Given the description of an element on the screen output the (x, y) to click on. 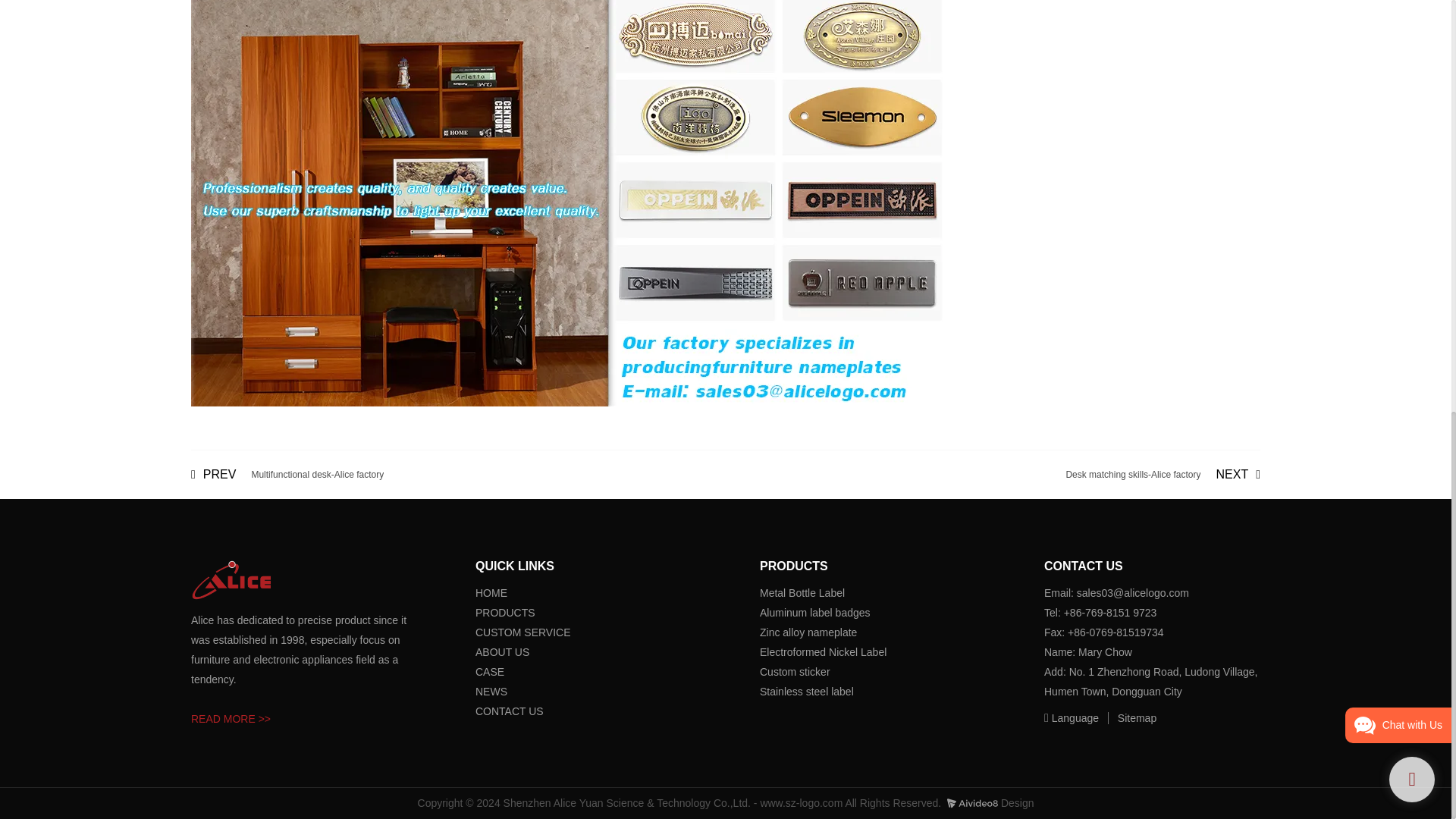
Language (1072, 717)
Desk matching skills-Alice factory (1162, 474)
CUSTOM SERVICE (523, 632)
Zinc alloy nameplate (1162, 474)
Aluminum label badges (808, 632)
CA (815, 612)
Stainless steel label (482, 671)
HOME (806, 691)
Multifunctional desk-Alice factory (491, 592)
